Given the description of an element on the screen output the (x, y) to click on. 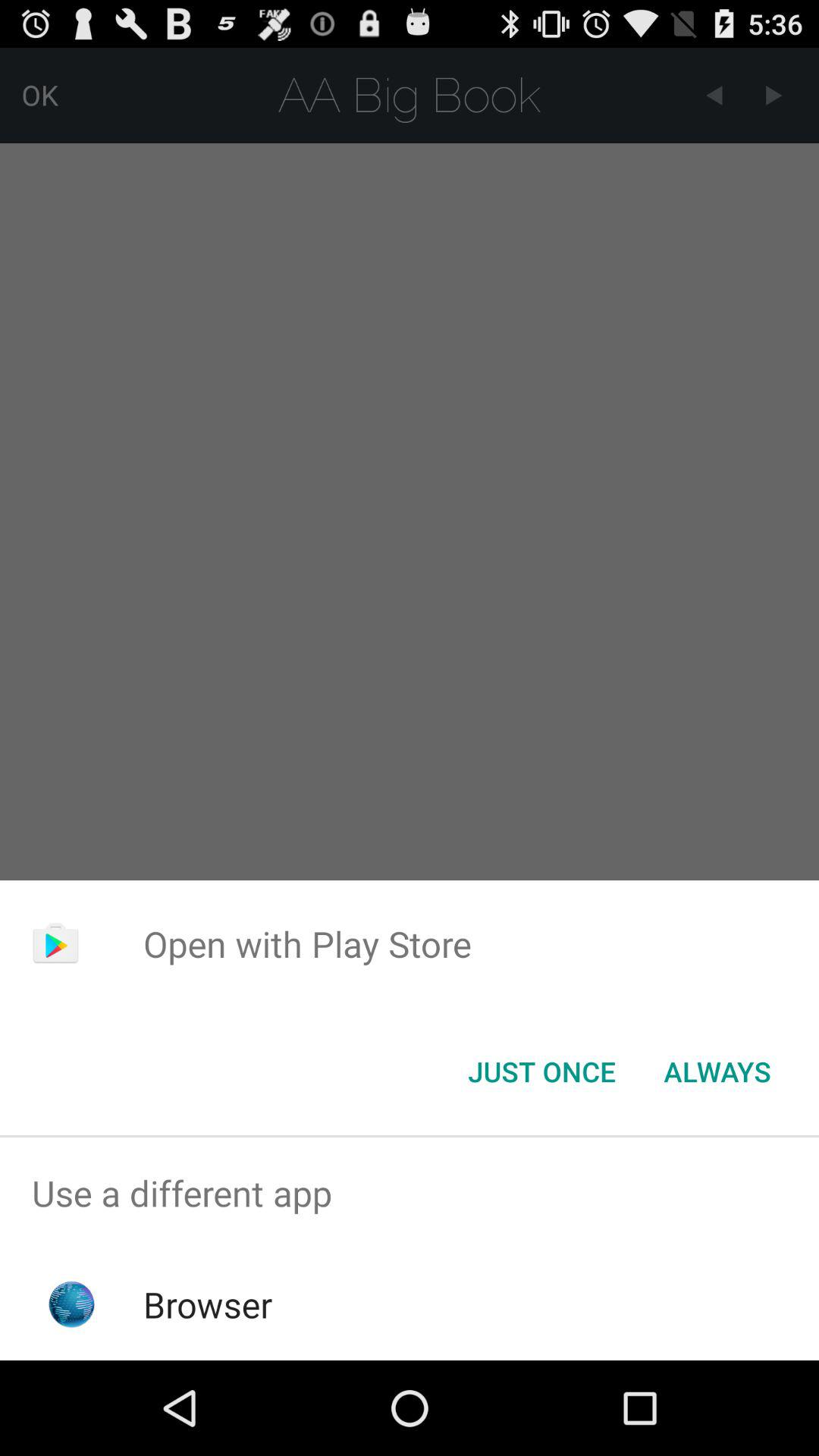
scroll until the browser item (207, 1304)
